Given the description of an element on the screen output the (x, y) to click on. 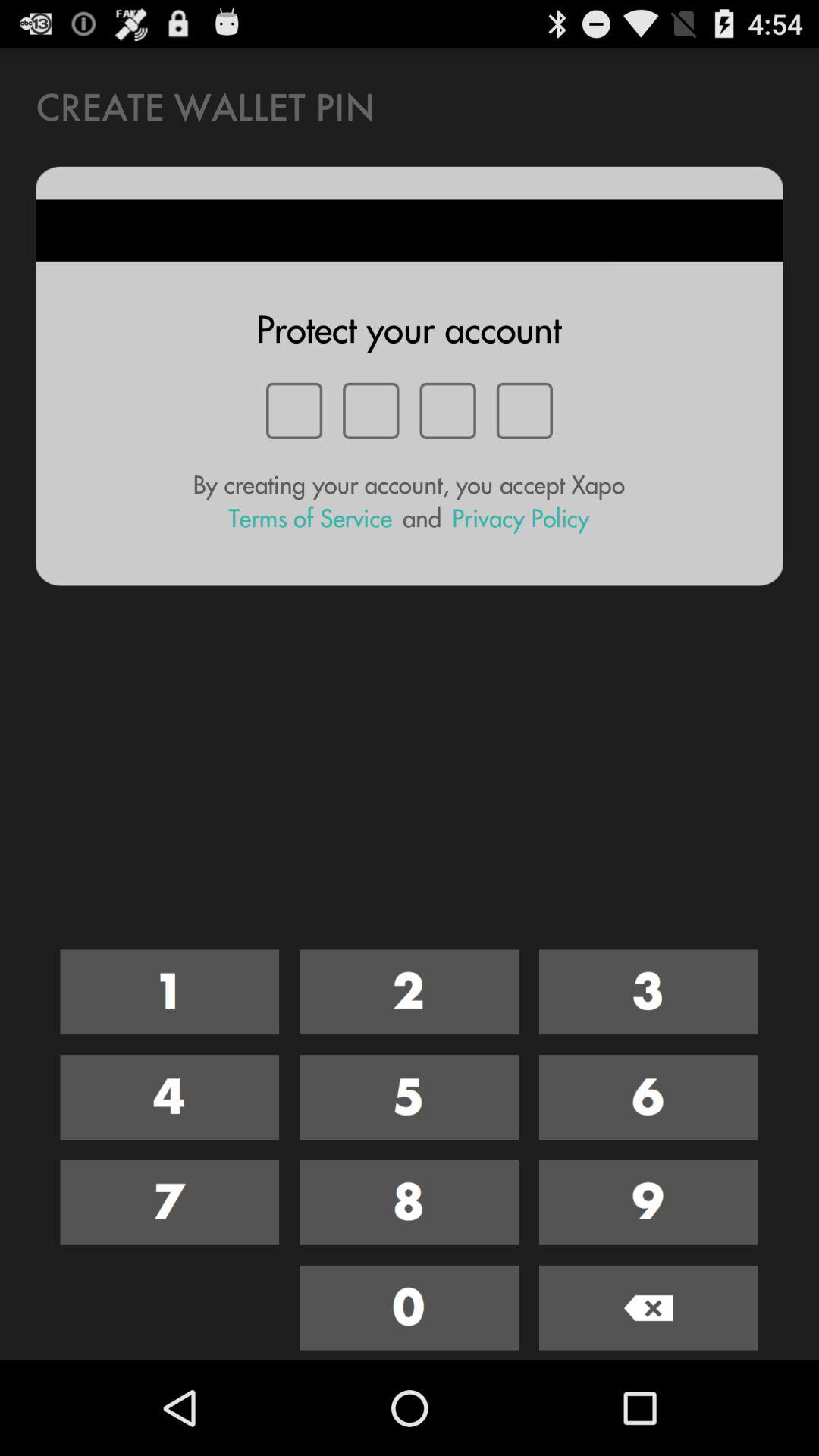
select number 6 (648, 1097)
